Given the description of an element on the screen output the (x, y) to click on. 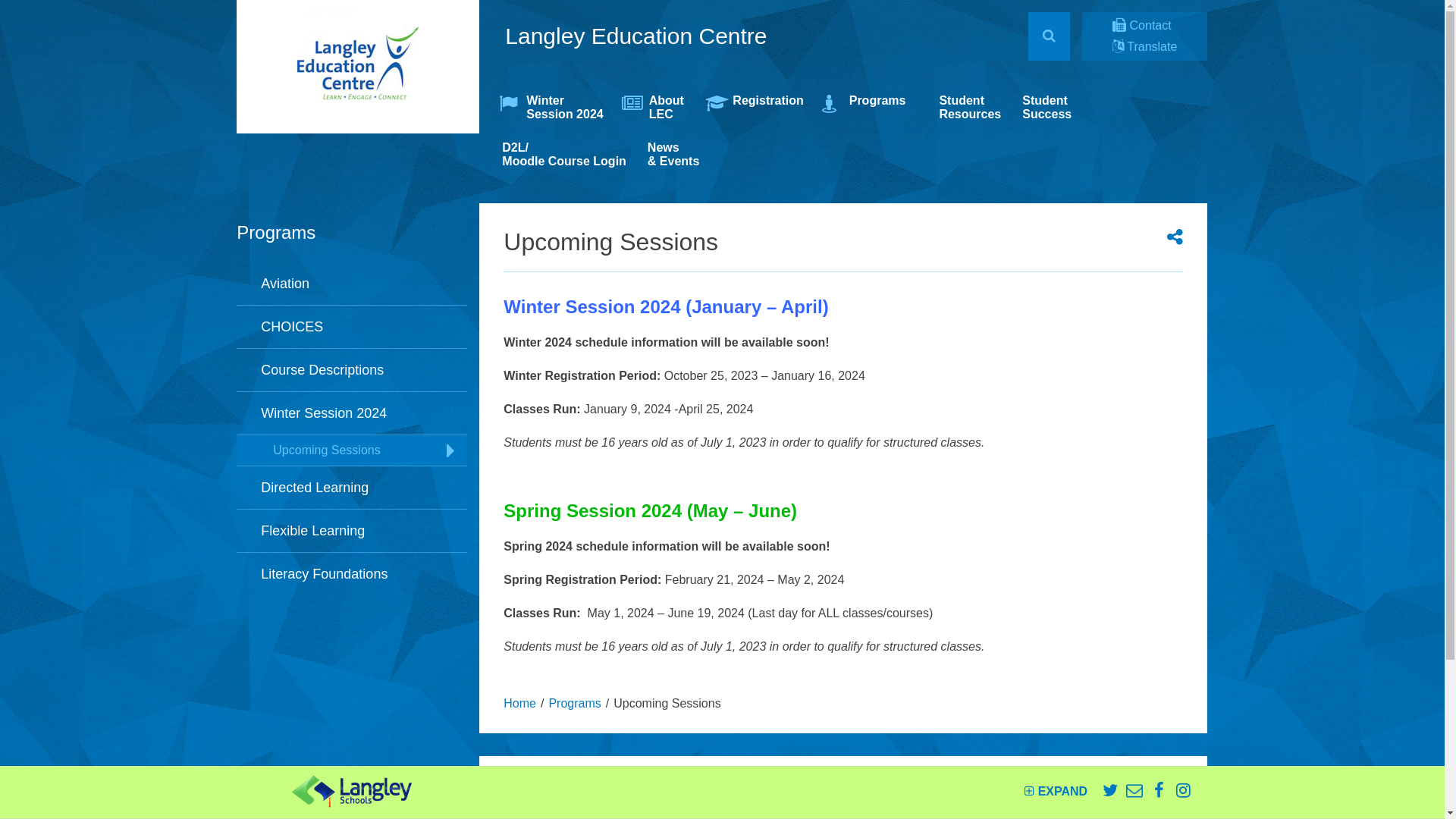
About 
LEC Element type: text (656, 107)
Flexible Learning Element type: text (351, 530)
Programs Element type: text (351, 232)
SD35, Langley School District Element type: hover (351, 791)
Registration Element type: text (755, 107)
D2L/ 
Moodle Course Login Element type: text (564, 154)
Aviation Element type: text (351, 283)
Literacy Foundations Element type: text (351, 573)
CHOICES Element type: text (351, 326)
Home Element type: text (519, 702)
Programs Element type: text (574, 702)
Course Descriptions Element type: text (351, 370)
Winter Session 2024 Element type: text (351, 413)
Student 
Success Element type: text (1046, 107)
 Translate Element type: text (1144, 46)
Student 
Resources Element type: text (969, 107)
Upcoming Sessions Element type: text (351, 450)
Winter 
Session 2024 Element type: text (552, 107)
Programs Element type: text (865, 107)
Directed Learning Element type: text (351, 487)
News 
& Events Element type: text (673, 154)
 Contact Element type: text (1141, 24)
 EXPAND Element type: text (1055, 791)
